Given the description of an element on the screen output the (x, y) to click on. 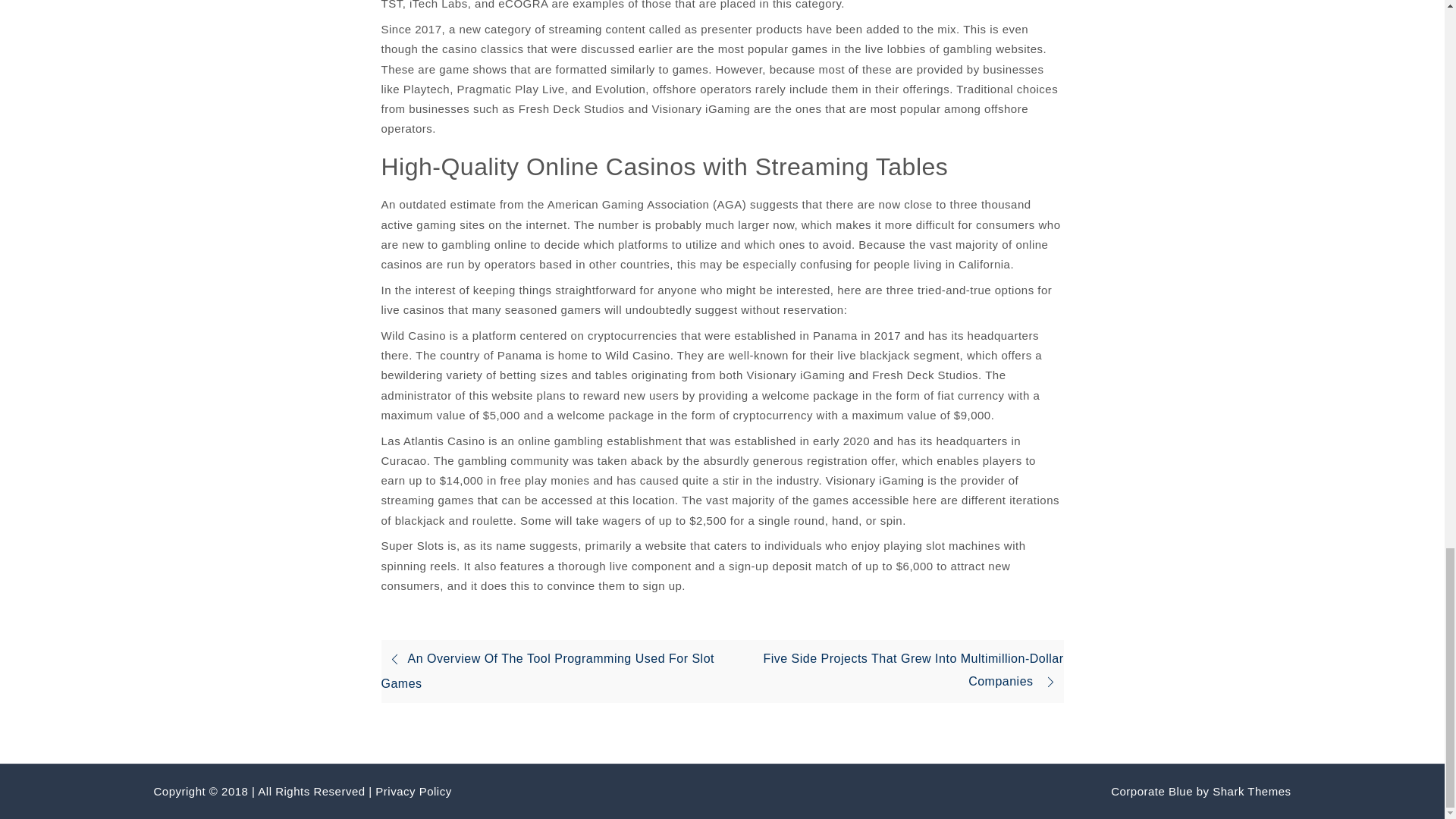
Privacy Policy (413, 790)
Shark Themes (1251, 790)
An Overview Of The Tool Programming Used For Slot Games (547, 670)
